Given the description of an element on the screen output the (x, y) to click on. 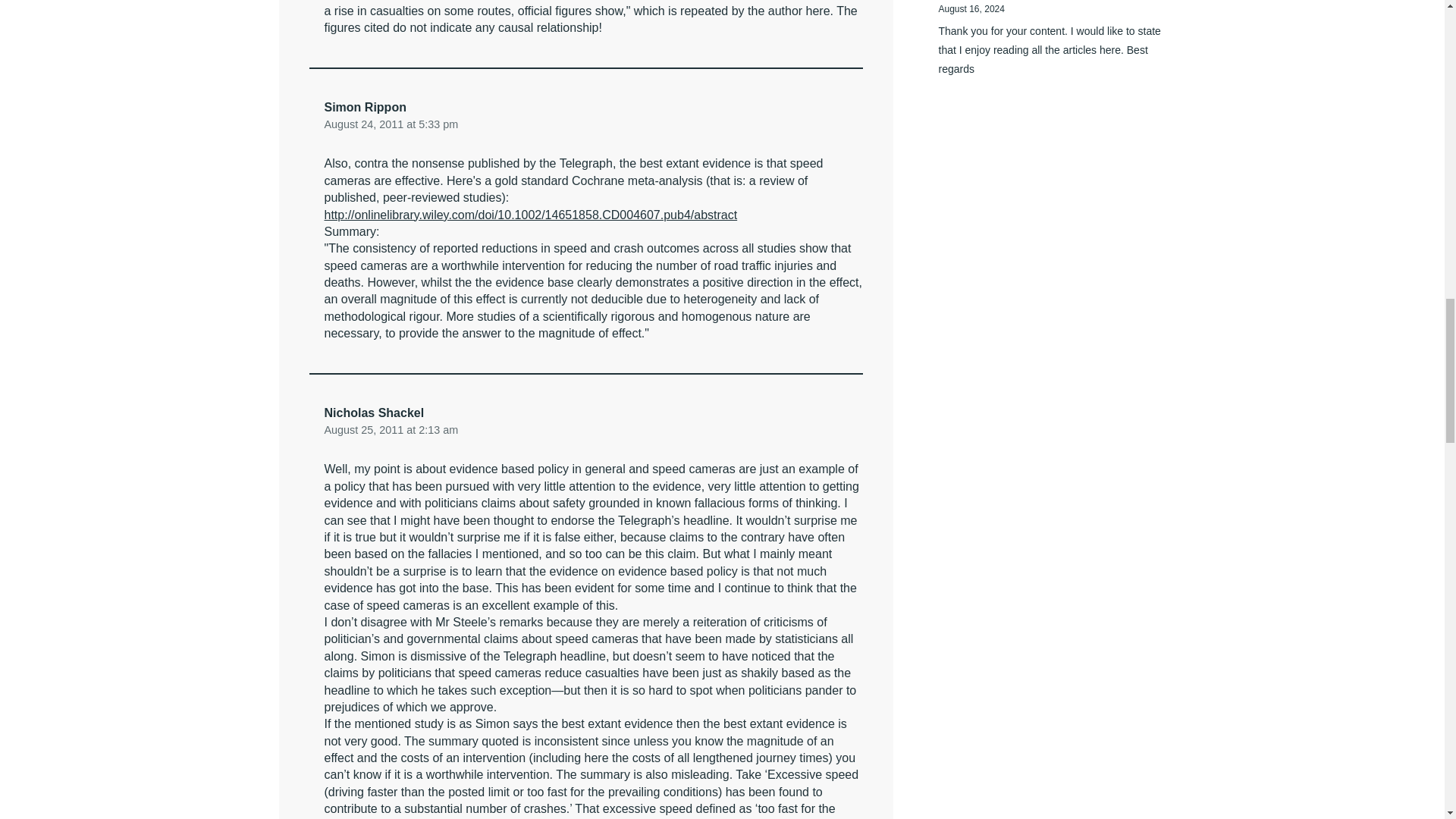
Simon Rippon (365, 106)
August 25, 2011 at 2:13 am (391, 429)
August 24, 2011 at 5:33 pm (391, 124)
